Given the description of an element on the screen output the (x, y) to click on. 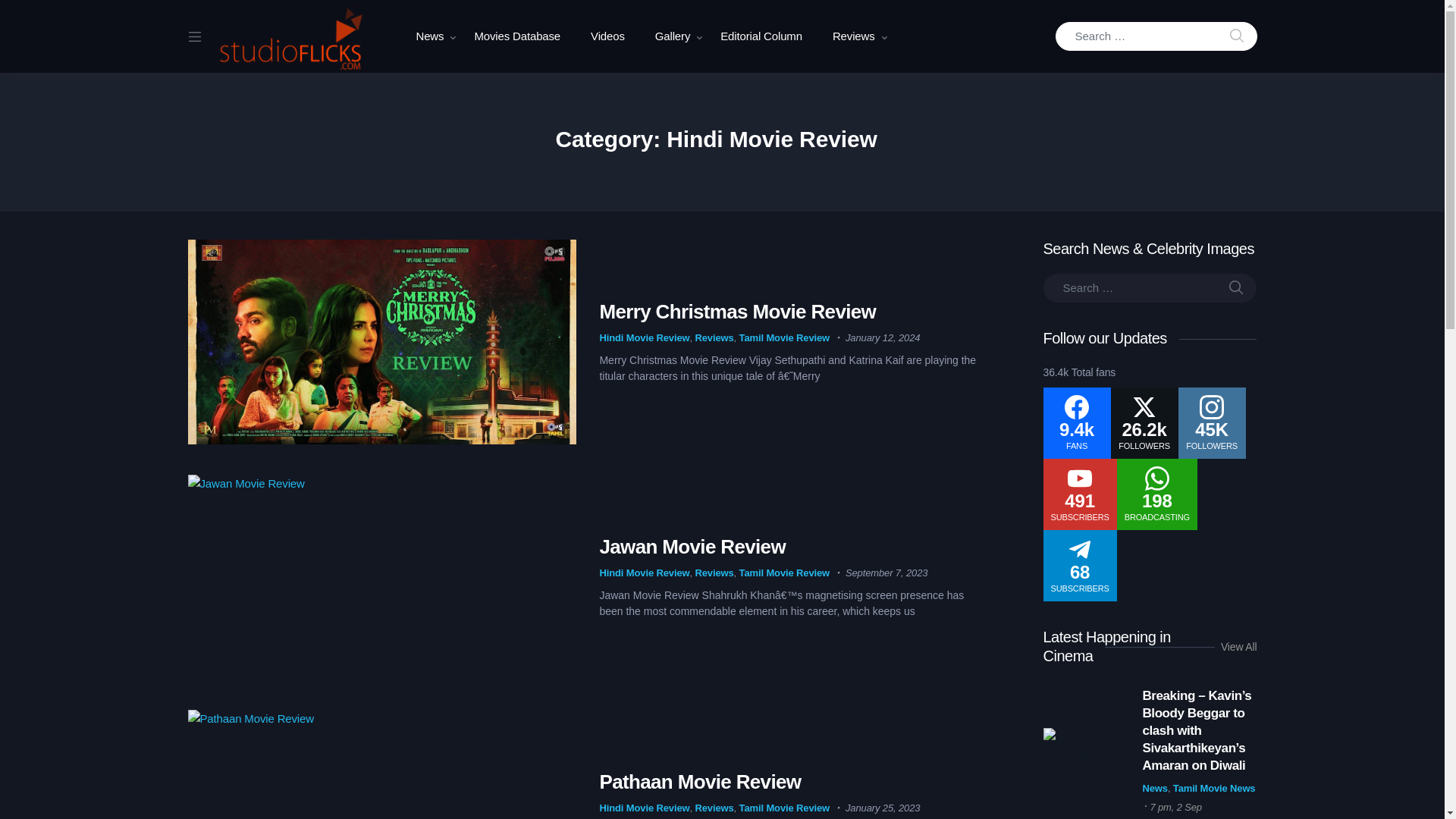
Gallery (672, 35)
Videos (607, 35)
Editorial Column (760, 35)
Movies Database (516, 35)
Reviews (852, 35)
News (429, 35)
